Given the description of an element on the screen output the (x, y) to click on. 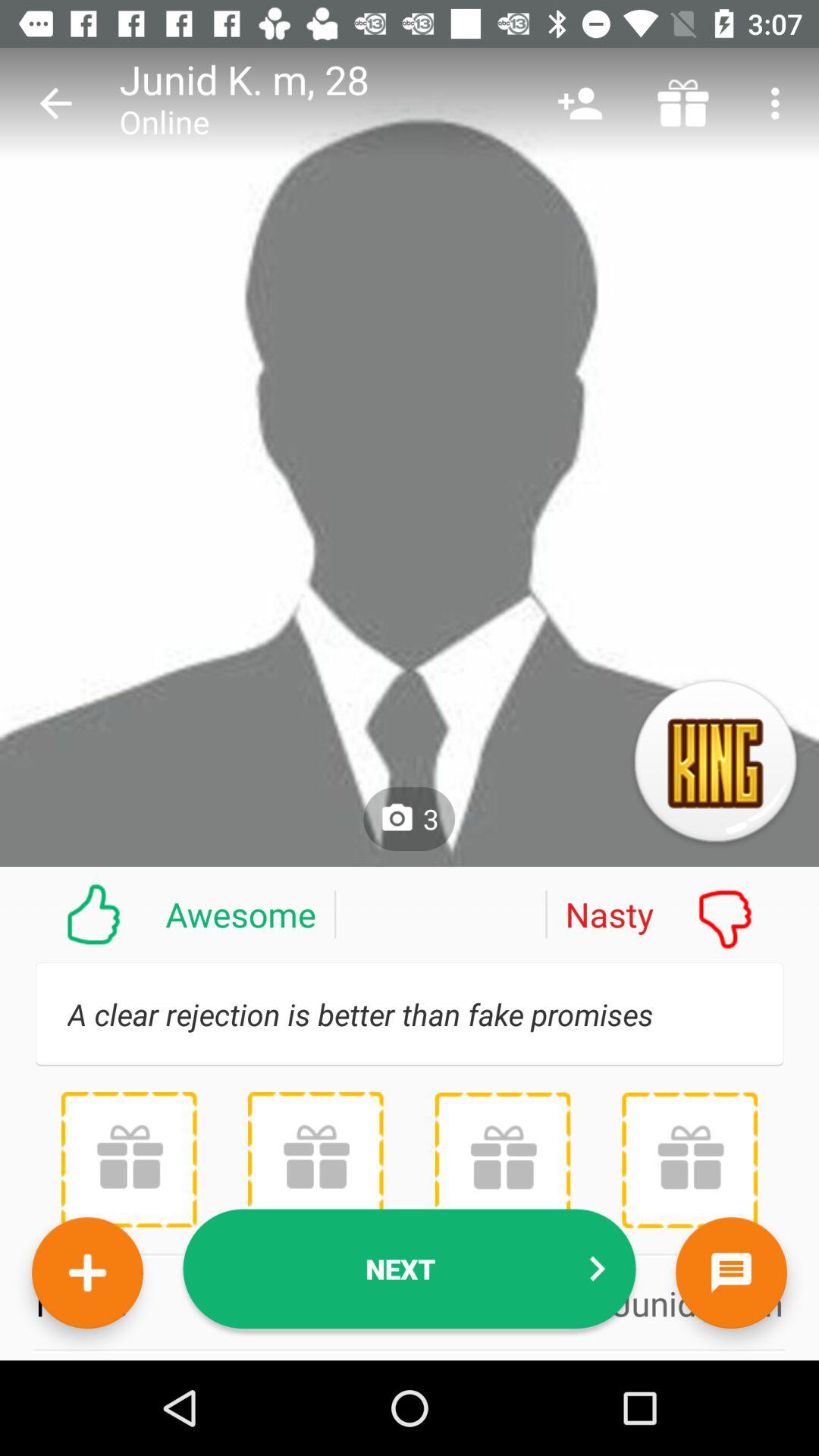
go to chat (731, 1272)
